Given the description of an element on the screen output the (x, y) to click on. 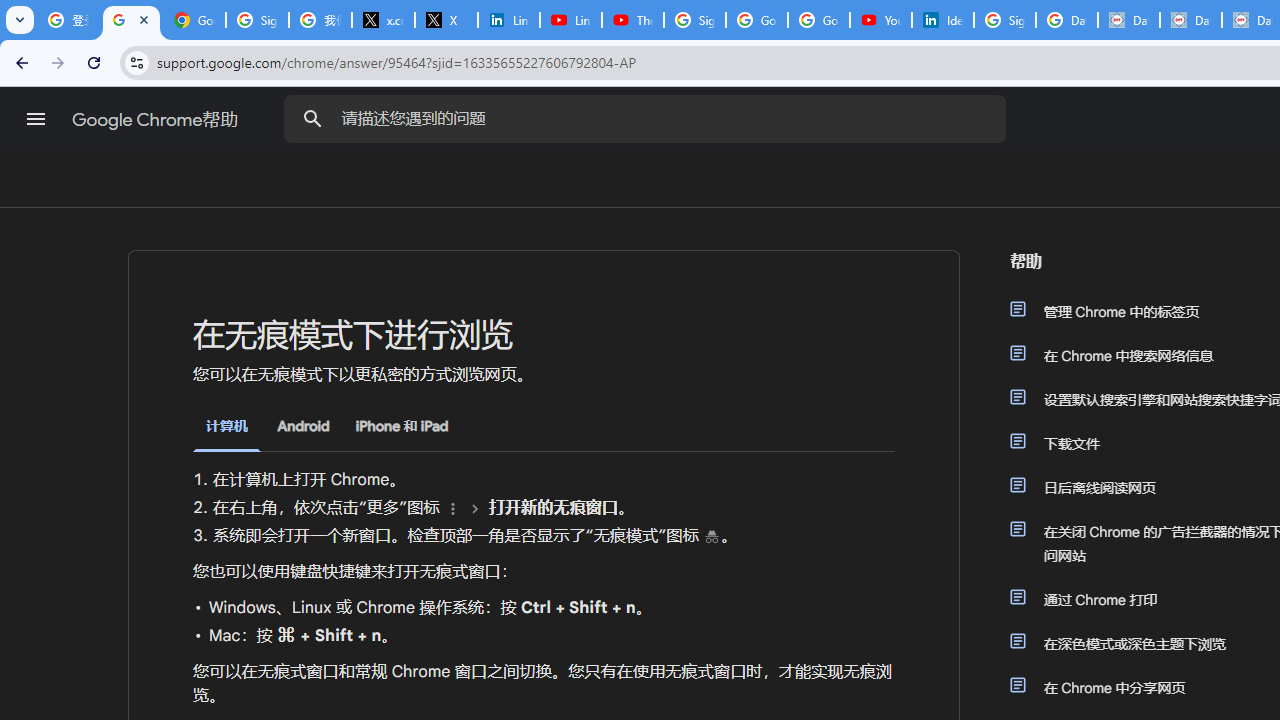
Data Privacy Framework (1128, 20)
LinkedIn Privacy Policy (508, 20)
Android (303, 426)
Data Privacy Framework (1190, 20)
